Given the description of an element on the screen output the (x, y) to click on. 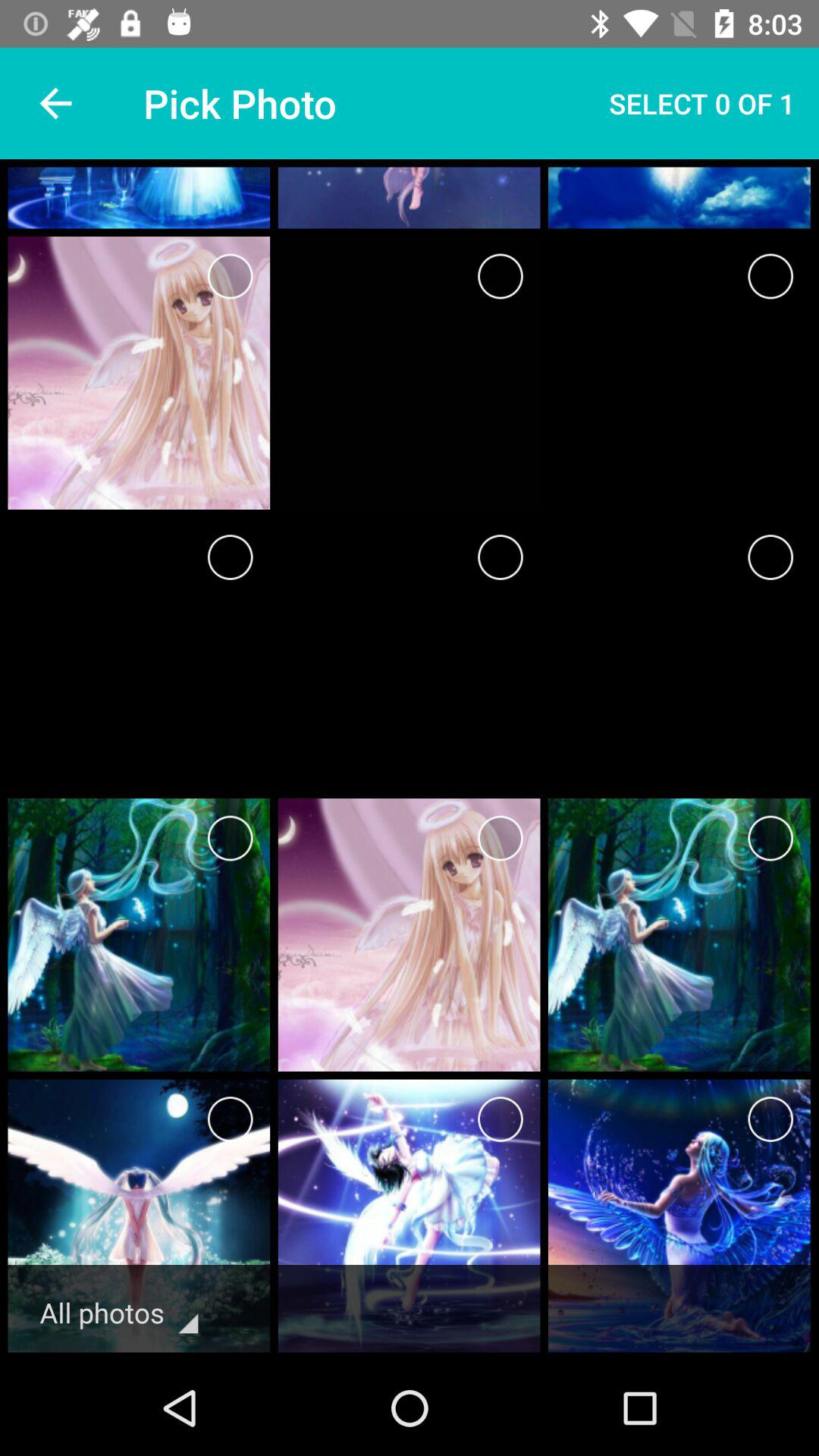
select the image (230, 1119)
